Given the description of an element on the screen output the (x, y) to click on. 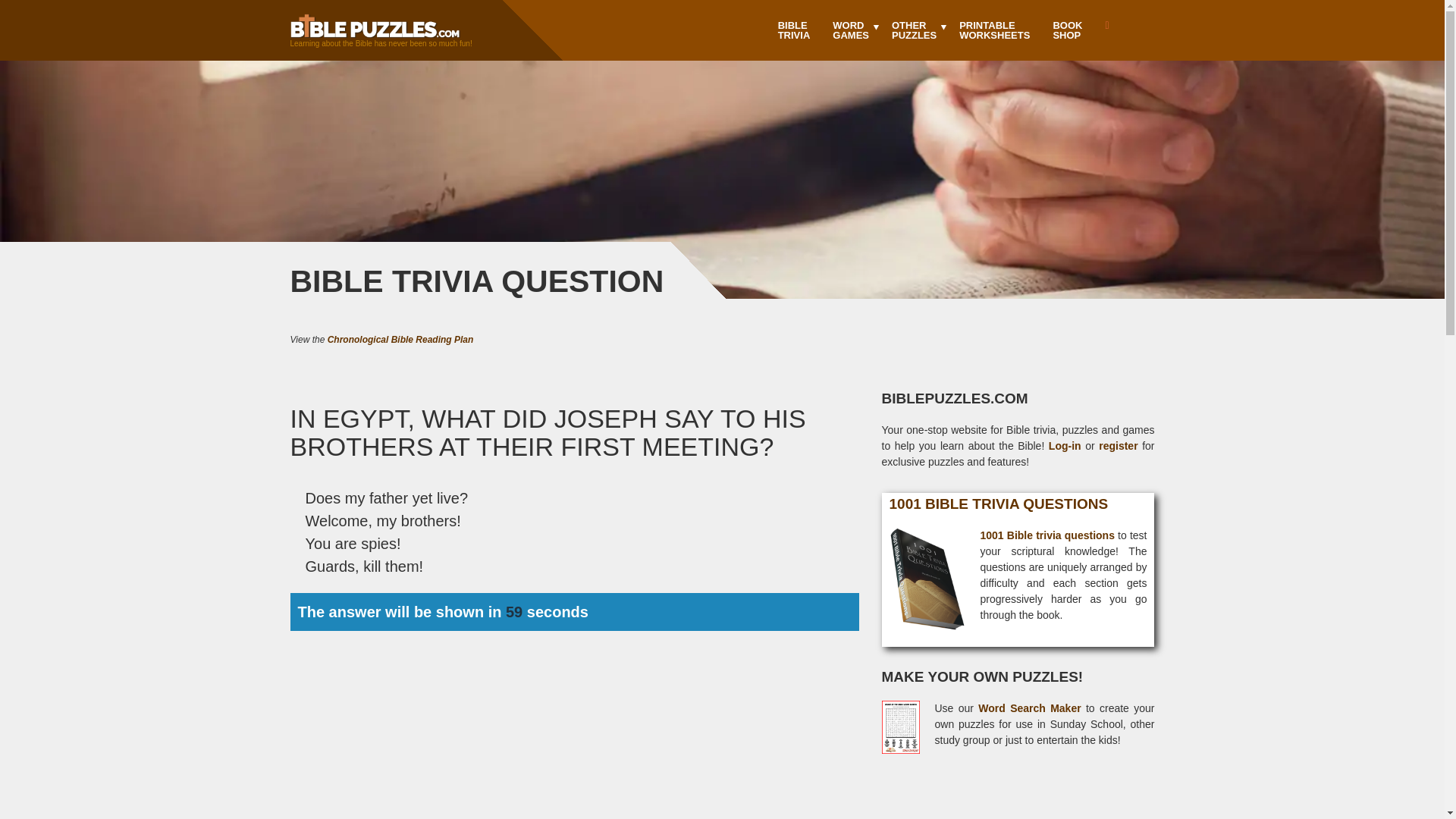
register (994, 30)
Chronological Bible Reading Plan (1118, 445)
1001 BIBLE TRIVIA QUESTIONS (794, 30)
Advertisement (400, 339)
Bible Quizzes (998, 503)
Advertisement (1067, 30)
1001 Bible trivia questions (1017, 802)
